Given the description of an element on the screen output the (x, y) to click on. 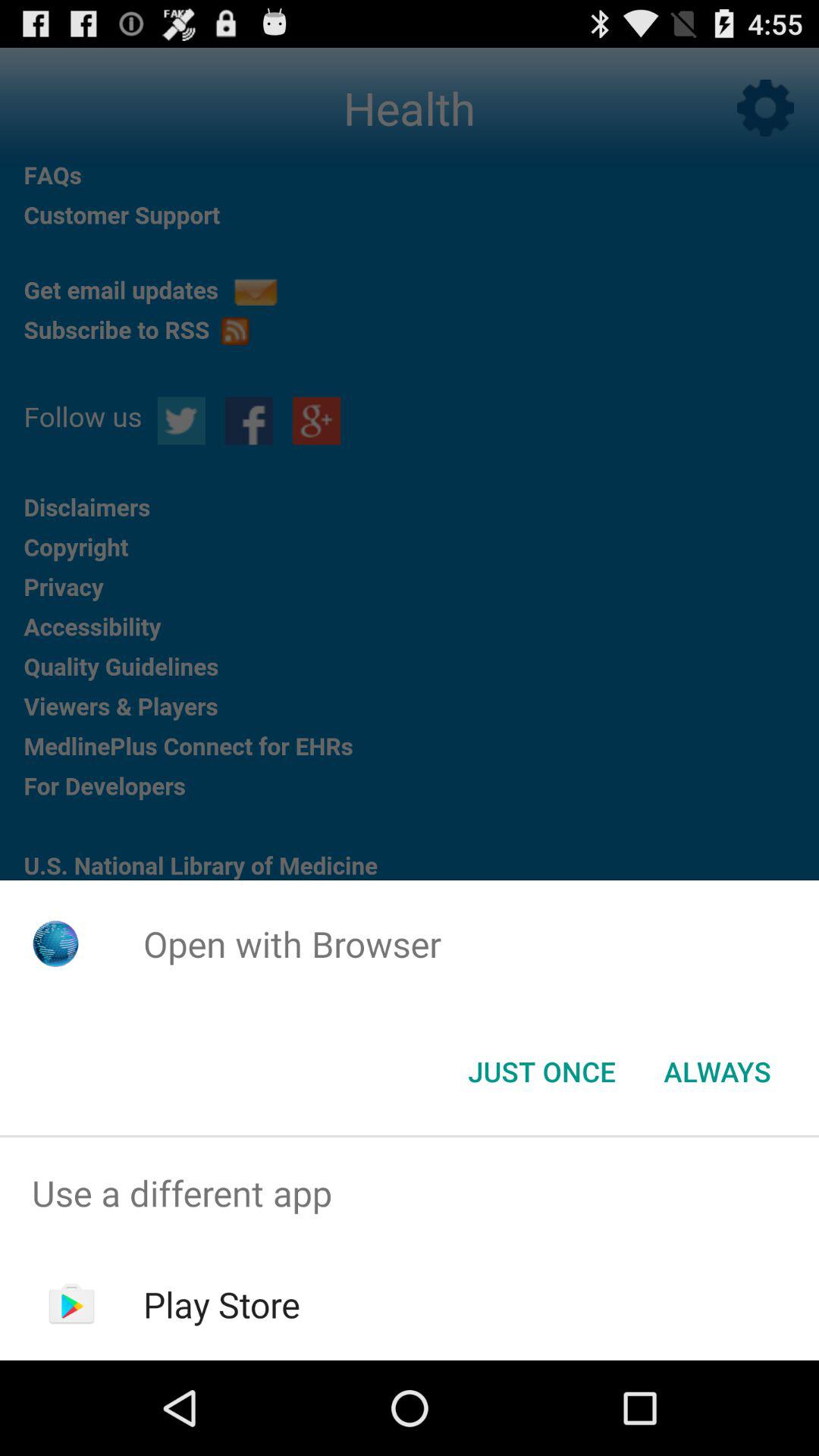
turn off use a different item (409, 1192)
